Given the description of an element on the screen output the (x, y) to click on. 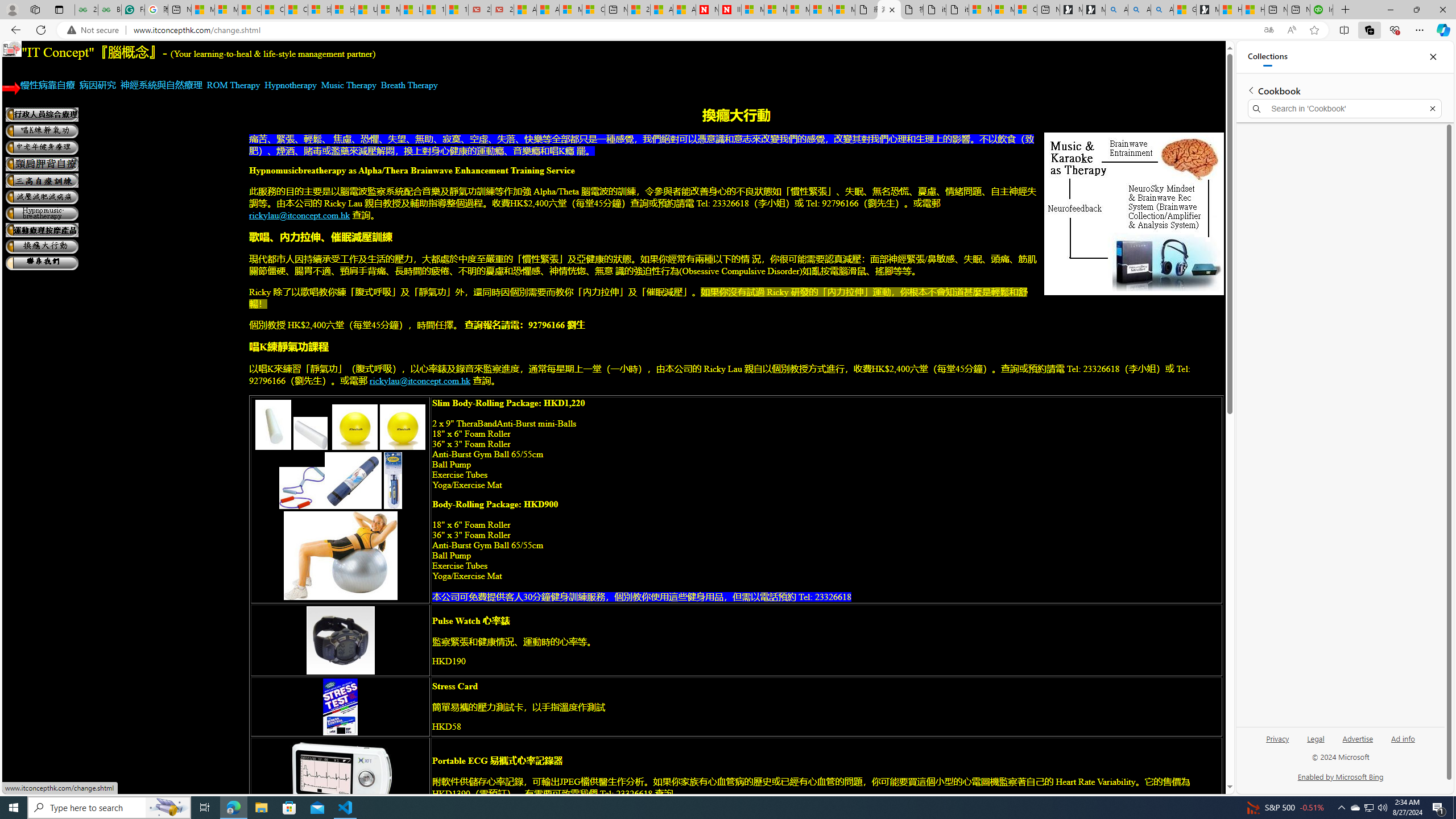
Ad info (1402, 742)
Split screen (1344, 29)
20 Ways to Boost Your Protein Intake at Every Meal (639, 9)
15 Ways Modern Life Contradicts the Teachings of Jesus (457, 9)
How to Use a TV as a Computer Monitor (1253, 9)
ROM Therapy (233, 85)
Read aloud this page (Ctrl+Shift+U) (1291, 29)
itconcepthk.com/projector_solutions.mp4 (957, 9)
Collections (1267, 56)
Privacy (1277, 742)
